Given the description of an element on the screen output the (x, y) to click on. 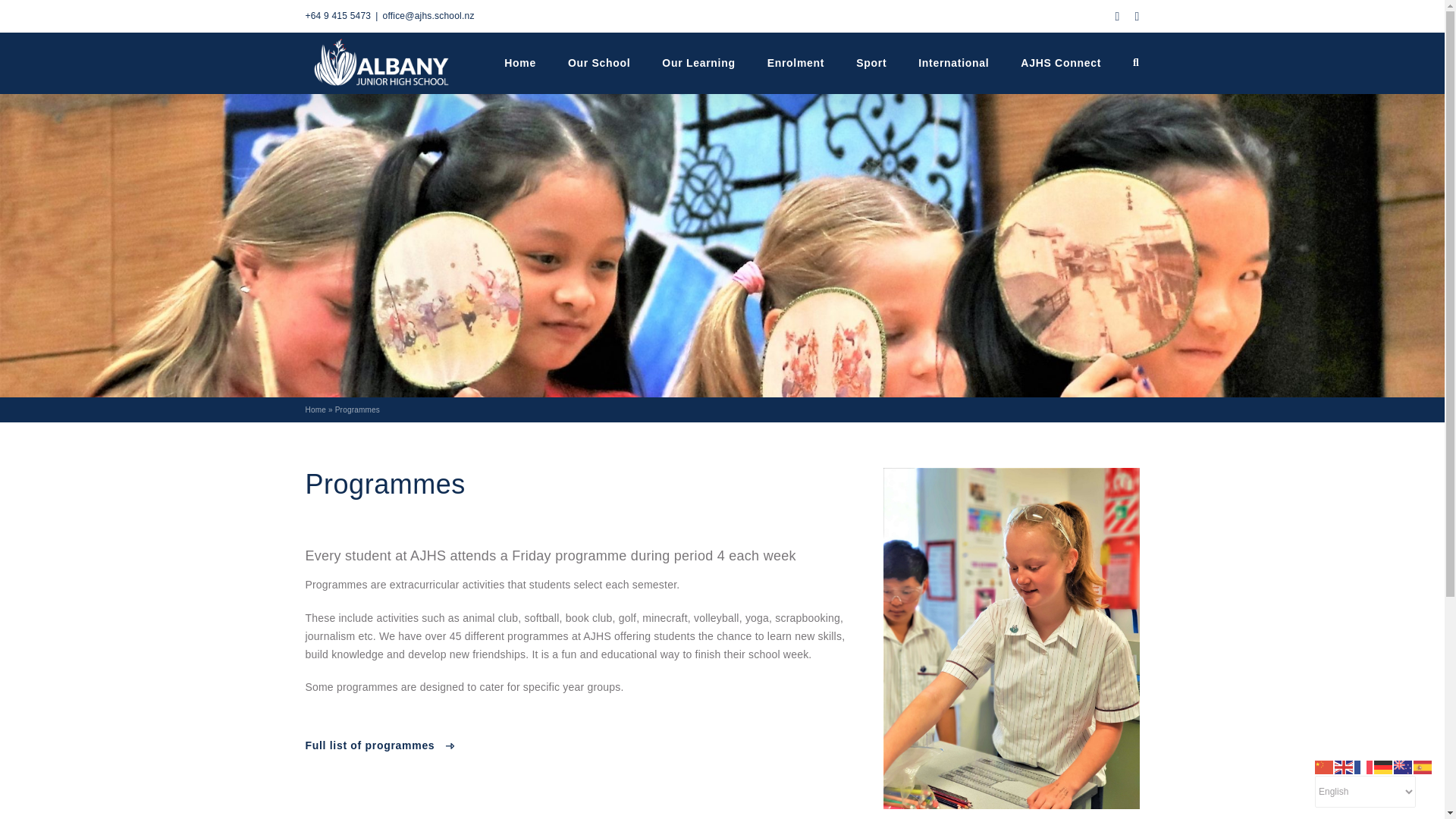
Our School (598, 62)
English (1344, 766)
French (1364, 766)
German (1383, 766)
Enrolment (796, 62)
Spanish (1422, 766)
Maori (1403, 766)
Our Learning (698, 62)
